Given the description of an element on the screen output the (x, y) to click on. 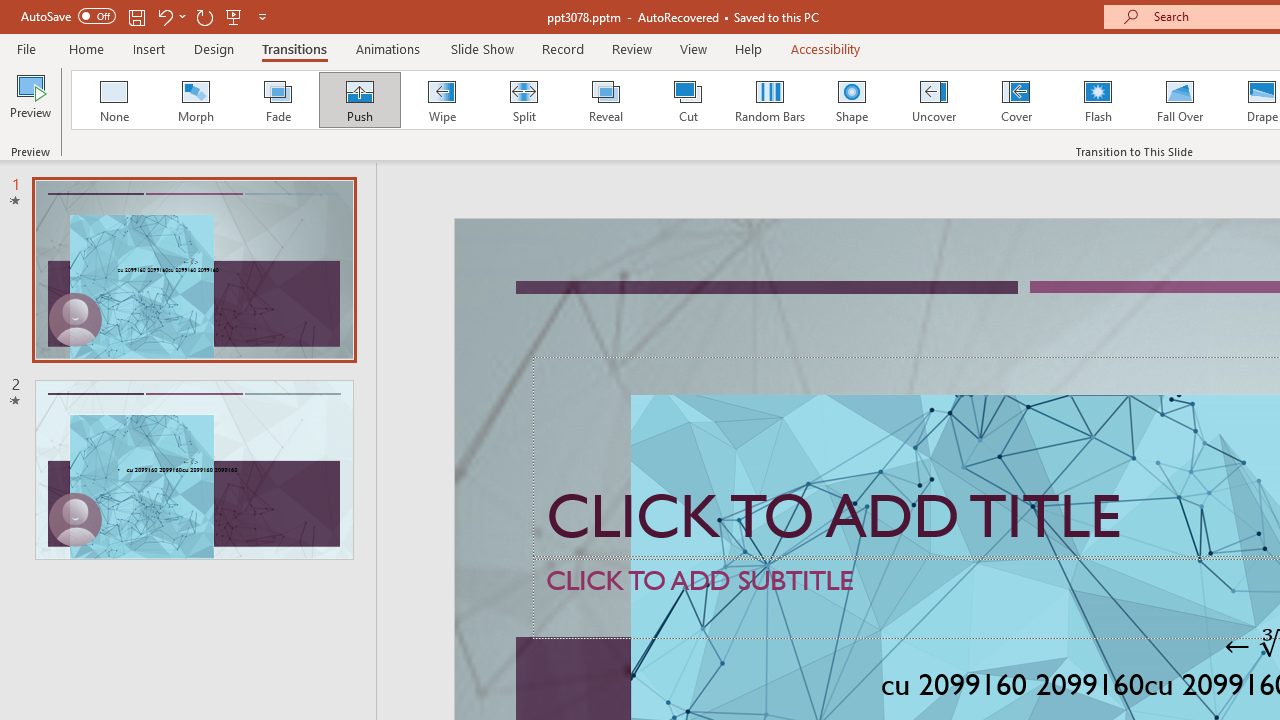
Accessibility (825, 48)
Cut (687, 100)
Preview (30, 102)
File Tab (26, 48)
Save (136, 15)
Quick Access Toolbar (145, 16)
Random Bars (770, 100)
Redo (204, 15)
Split (523, 100)
AutoSave (68, 16)
